Given the description of an element on the screen output the (x, y) to click on. 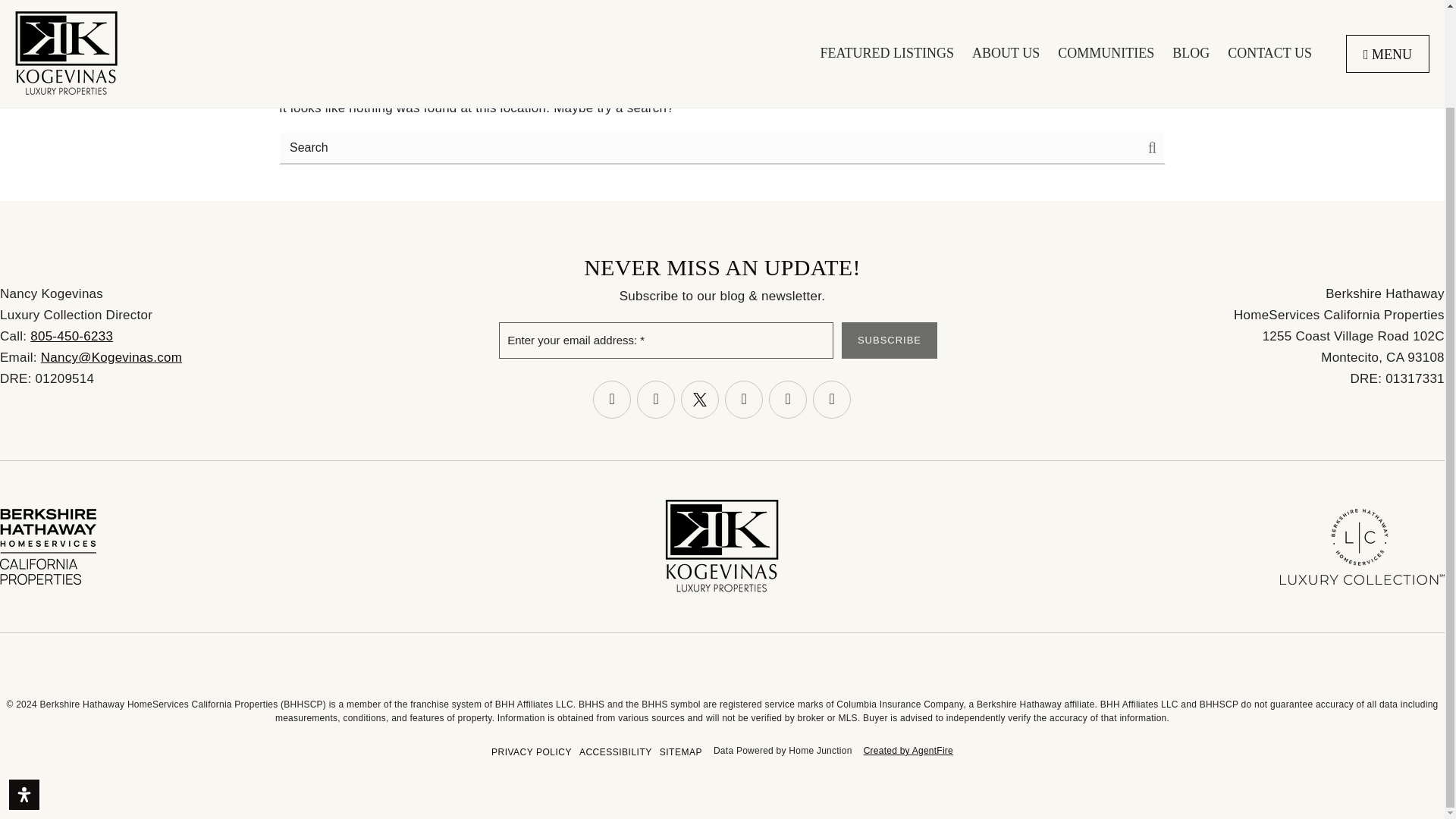
Accessibility (615, 753)
SUBSCRIBE (889, 340)
Call us at: 805-450-6233 (71, 336)
Follow us on Pinterest (831, 399)
Follow us on Twitter (700, 399)
Sitemap (681, 753)
Watch our videos on YouTube (743, 399)
Watch our videos on Instagram (656, 399)
Privacy Policy (531, 753)
Visit us on Facebook (611, 399)
